Given the description of an element on the screen output the (x, y) to click on. 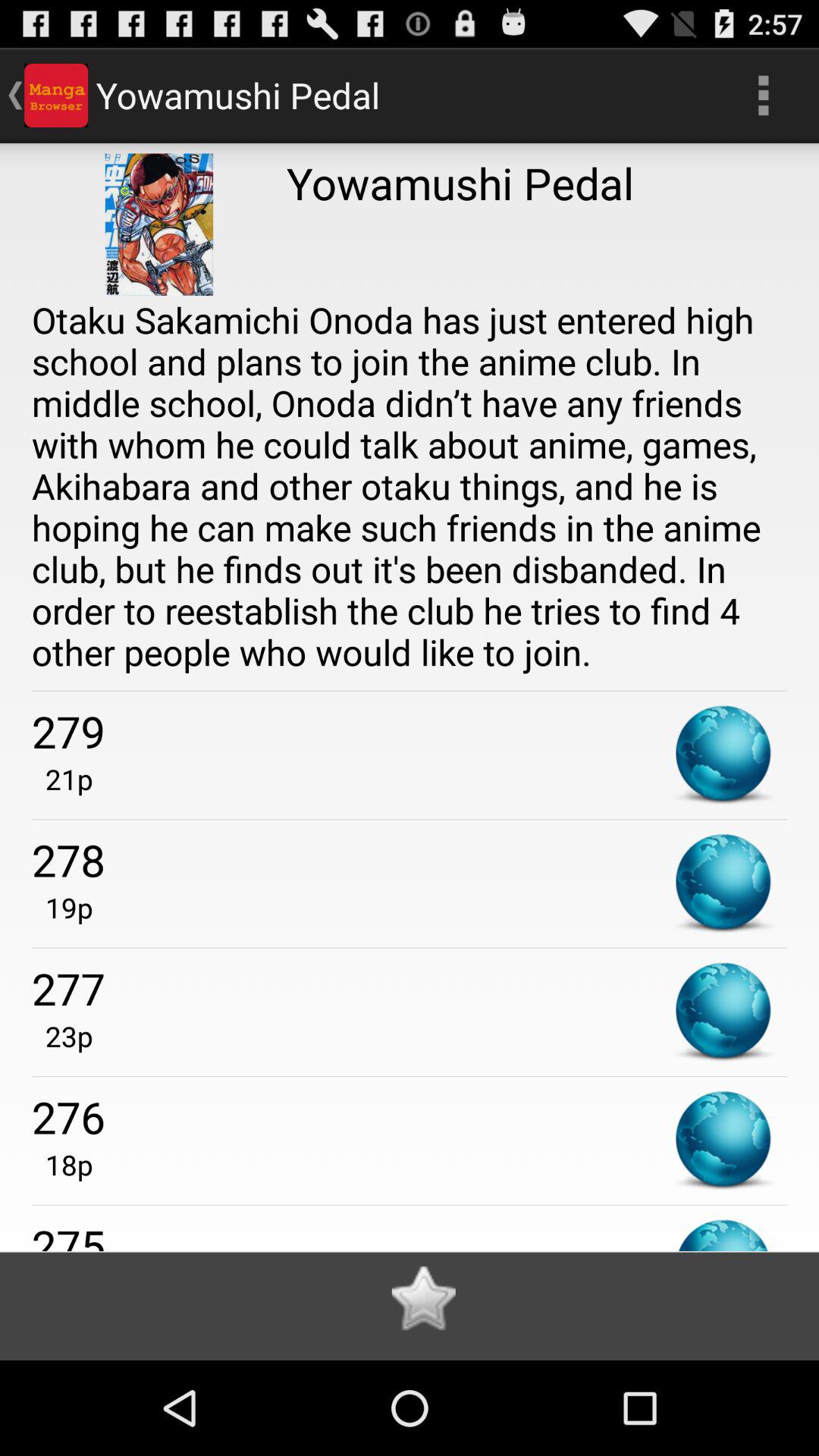
tap icon to the right of yowamushi pedal icon (763, 95)
